Given the description of an element on the screen output the (x, y) to click on. 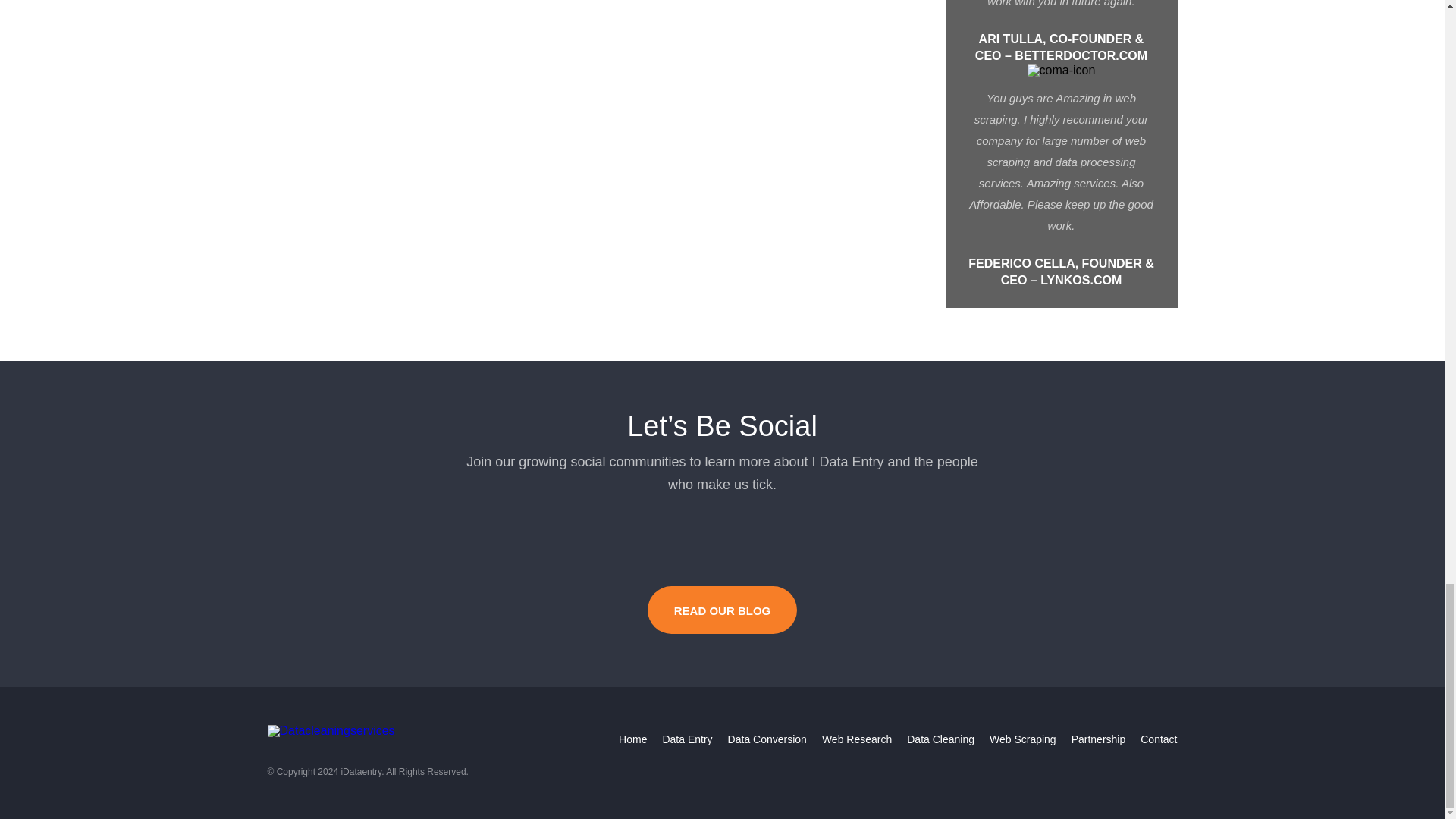
Datacleaningservices (330, 730)
coma-icon (1061, 70)
